Given the description of an element on the screen output the (x, y) to click on. 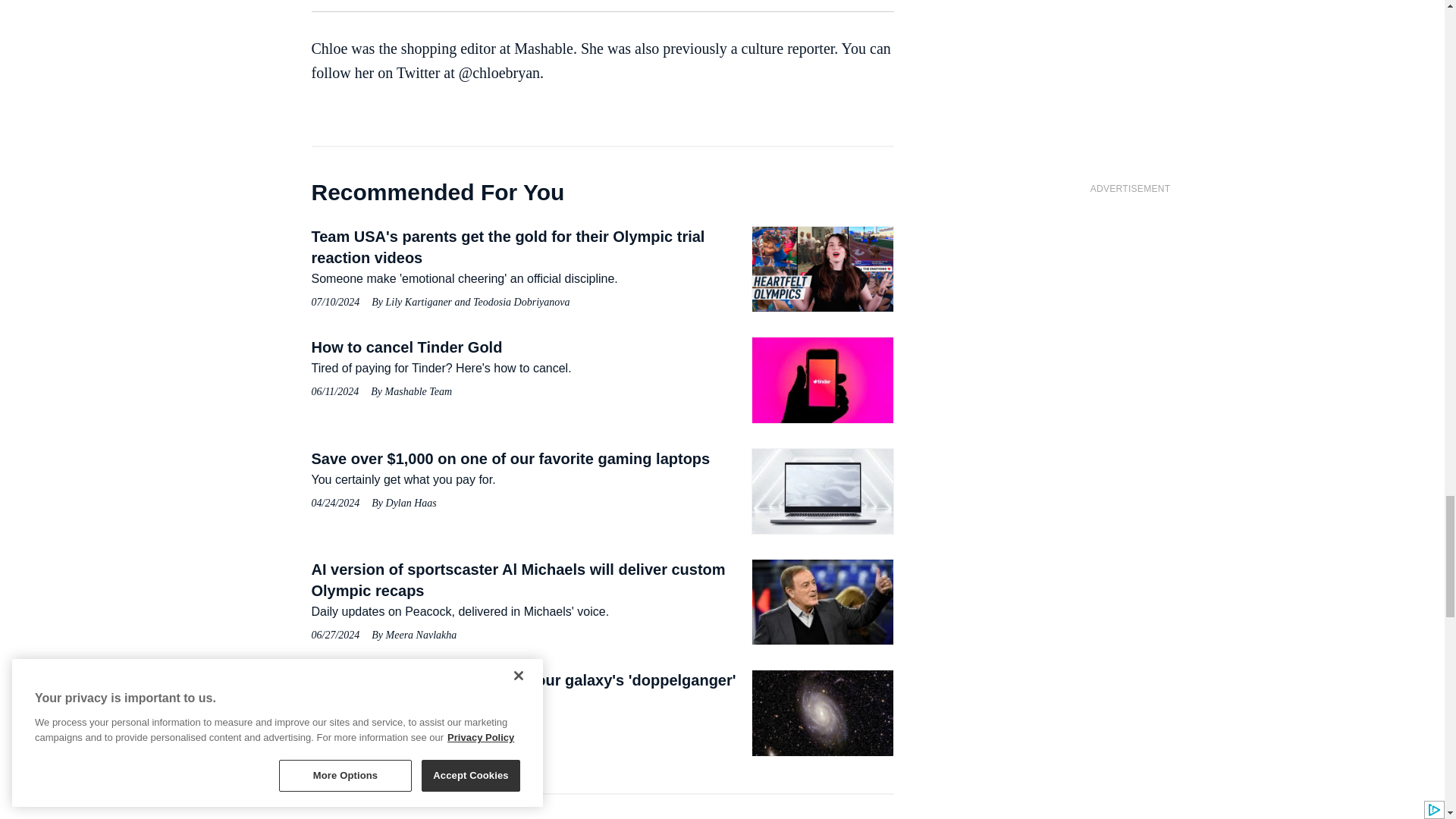
3rd party ad content (1129, 298)
